Given the description of an element on the screen output the (x, y) to click on. 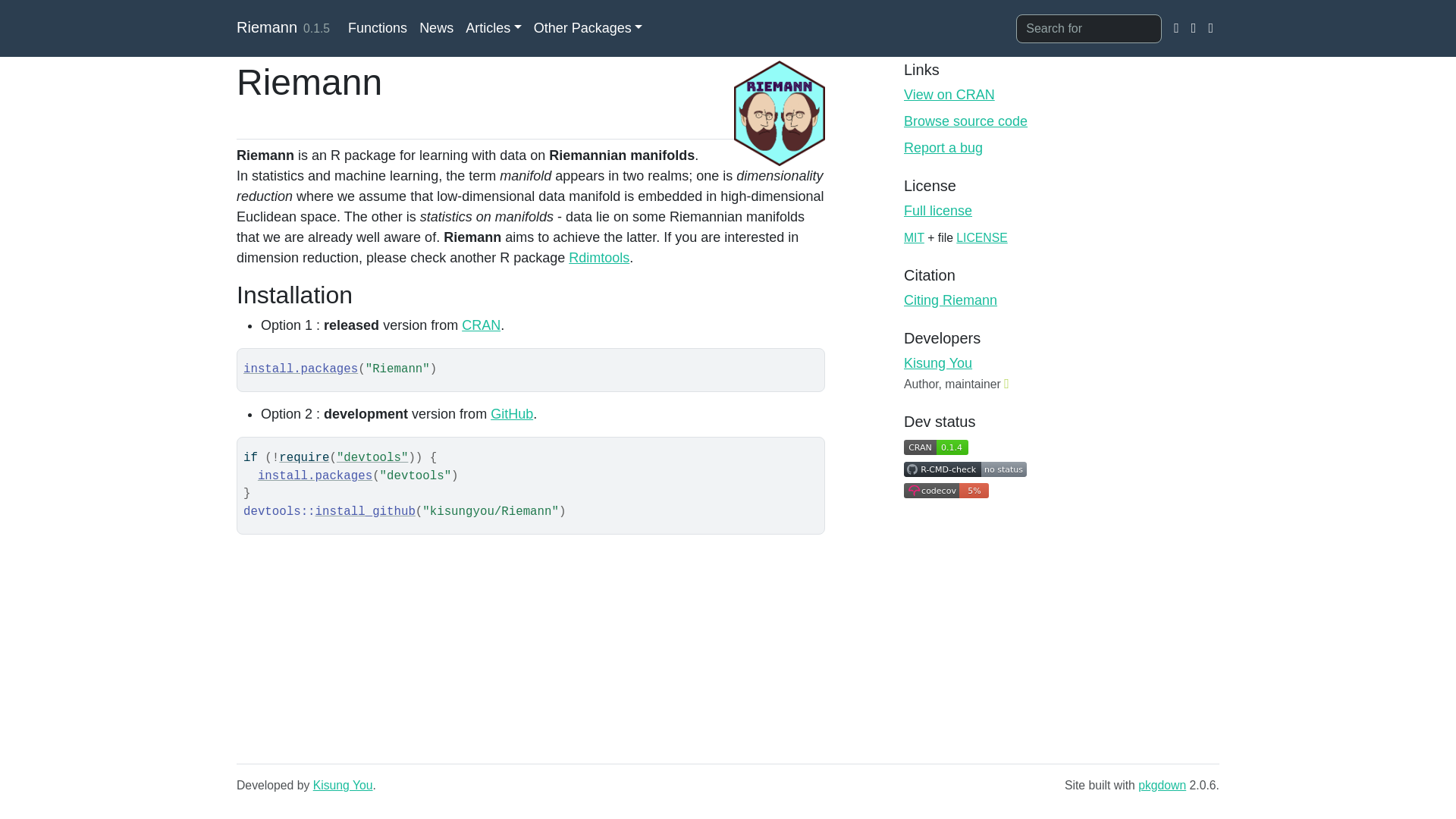
require (304, 458)
Full license (938, 210)
News (436, 28)
Browse source code (965, 120)
CRAN (480, 324)
install.packages (314, 476)
Other Packages (588, 28)
Kisung You (938, 363)
Report a bug (943, 147)
Citing Riemann (950, 299)
Kisung You (342, 784)
Riemann (266, 27)
install.packages (300, 368)
"devtools" (372, 458)
View on CRAN (949, 94)
